Given the description of an element on the screen output the (x, y) to click on. 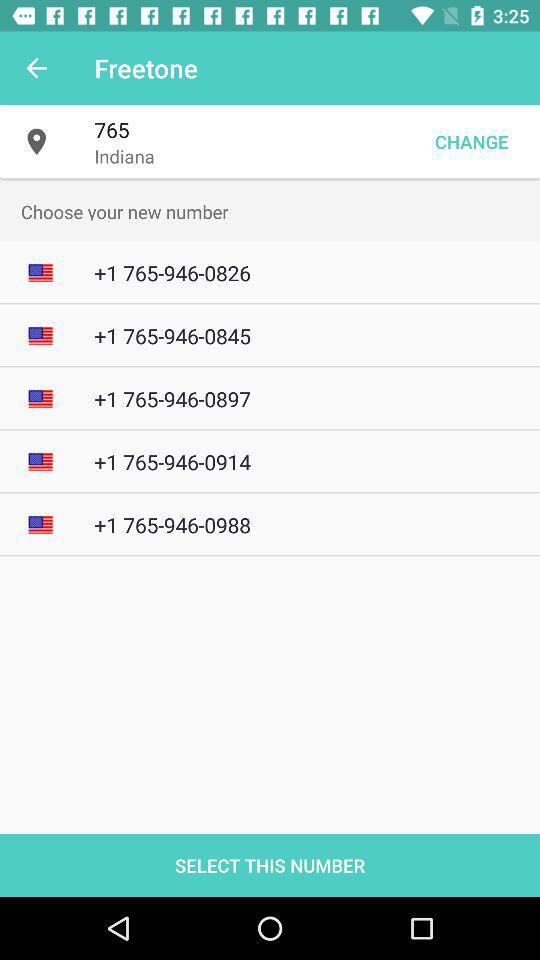
scroll until select this number (270, 864)
